Given the description of an element on the screen output the (x, y) to click on. 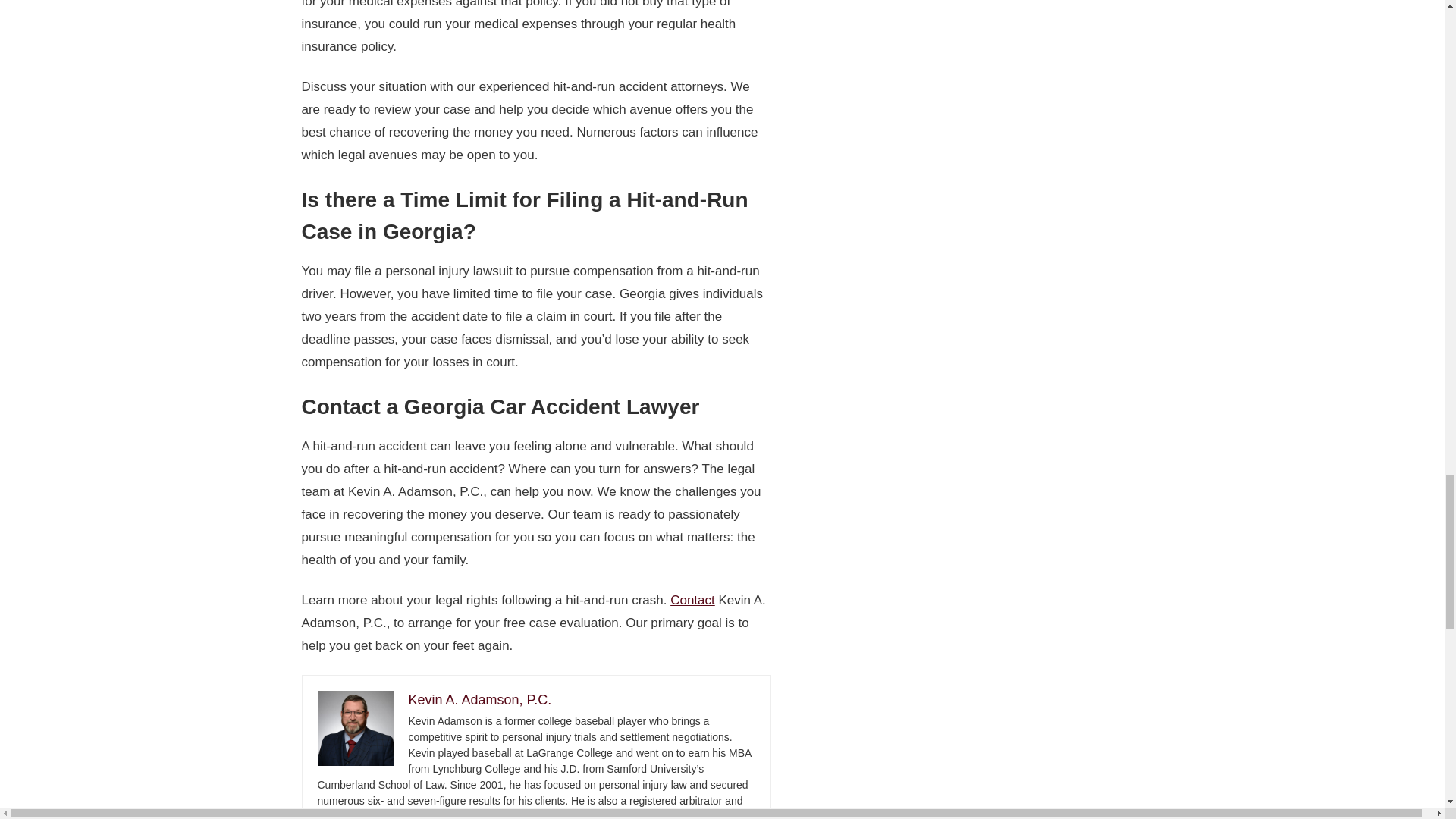
Kevin A. Adamson, P.C. (479, 699)
Contact (691, 599)
